Given the description of an element on the screen output the (x, y) to click on. 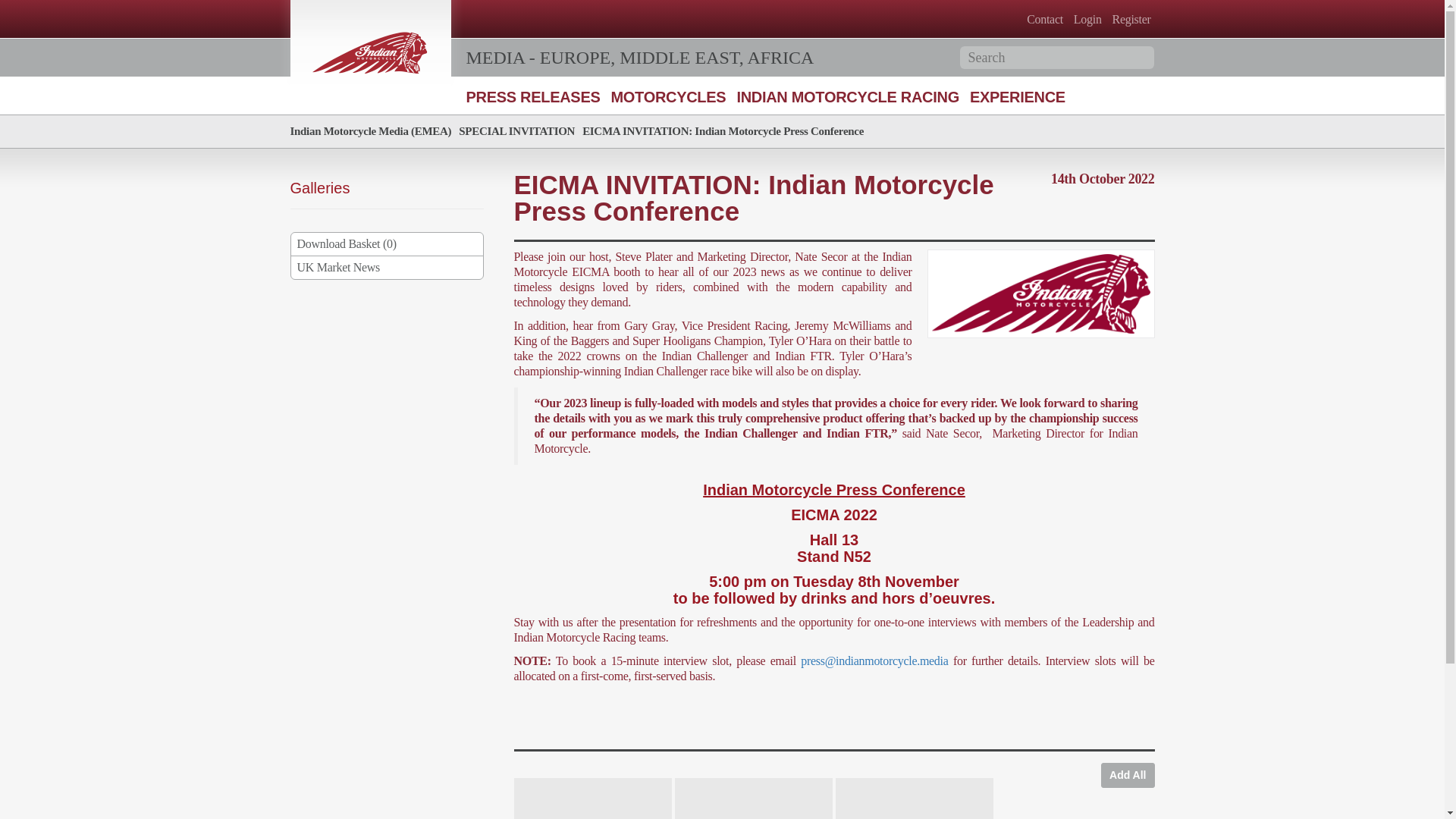
MOTORCYCLES (667, 96)
Register (1131, 19)
SPECIAL INVITATION (516, 131)
BJN65277 (592, 798)
EXPERIENCE (1017, 96)
Login (1088, 19)
UK Market News (387, 267)
PRESS RELEASES (532, 96)
EICMA INVITATION: Indian Motorcycle Press Conference (722, 131)
 Contact (1042, 19)
